Given the description of an element on the screen output the (x, y) to click on. 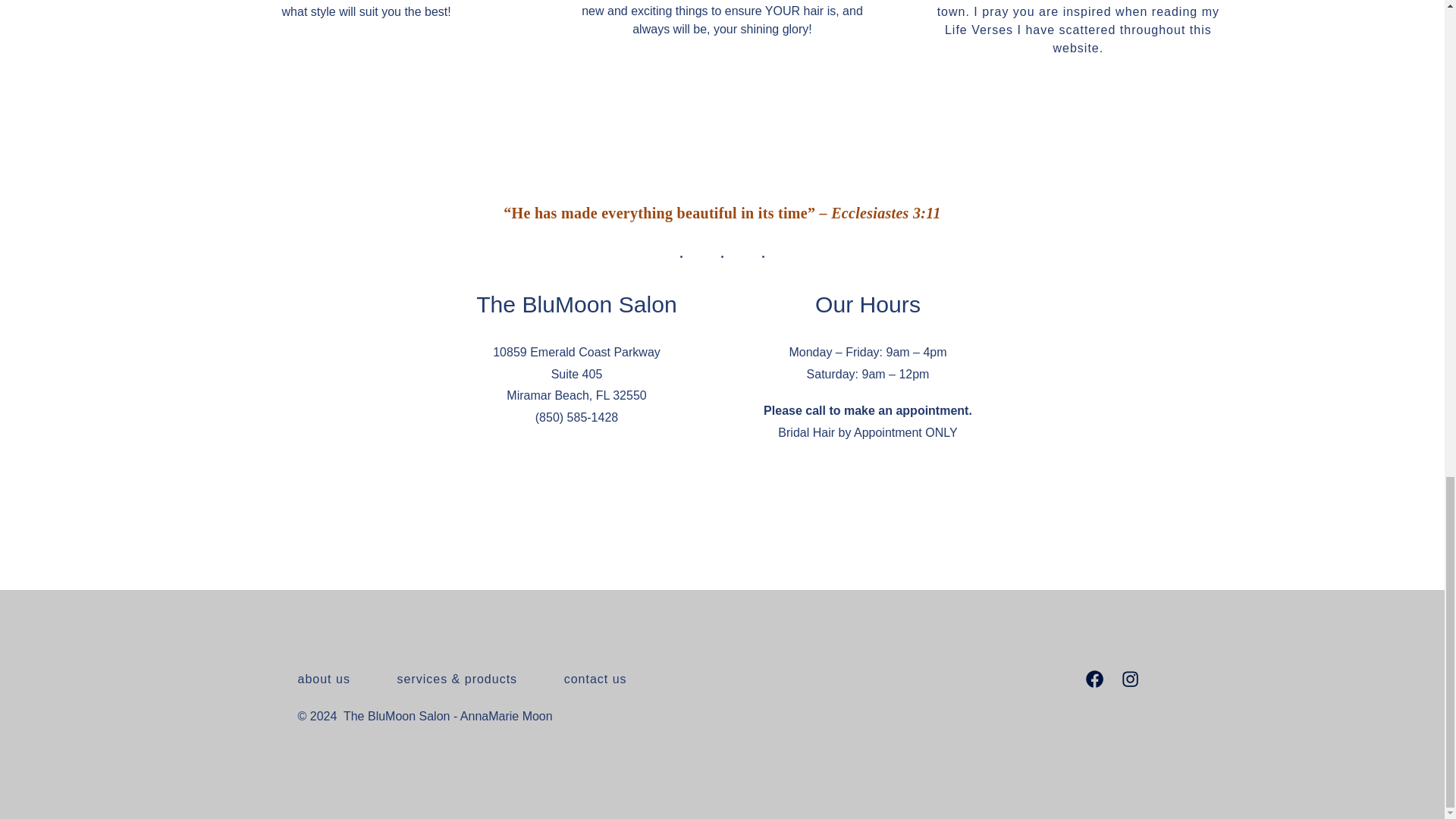
Open Facebook in a new tab (1094, 678)
contact us (595, 679)
Open Instagram in a new tab (1130, 678)
about us (334, 679)
